Given the description of an element on the screen output the (x, y) to click on. 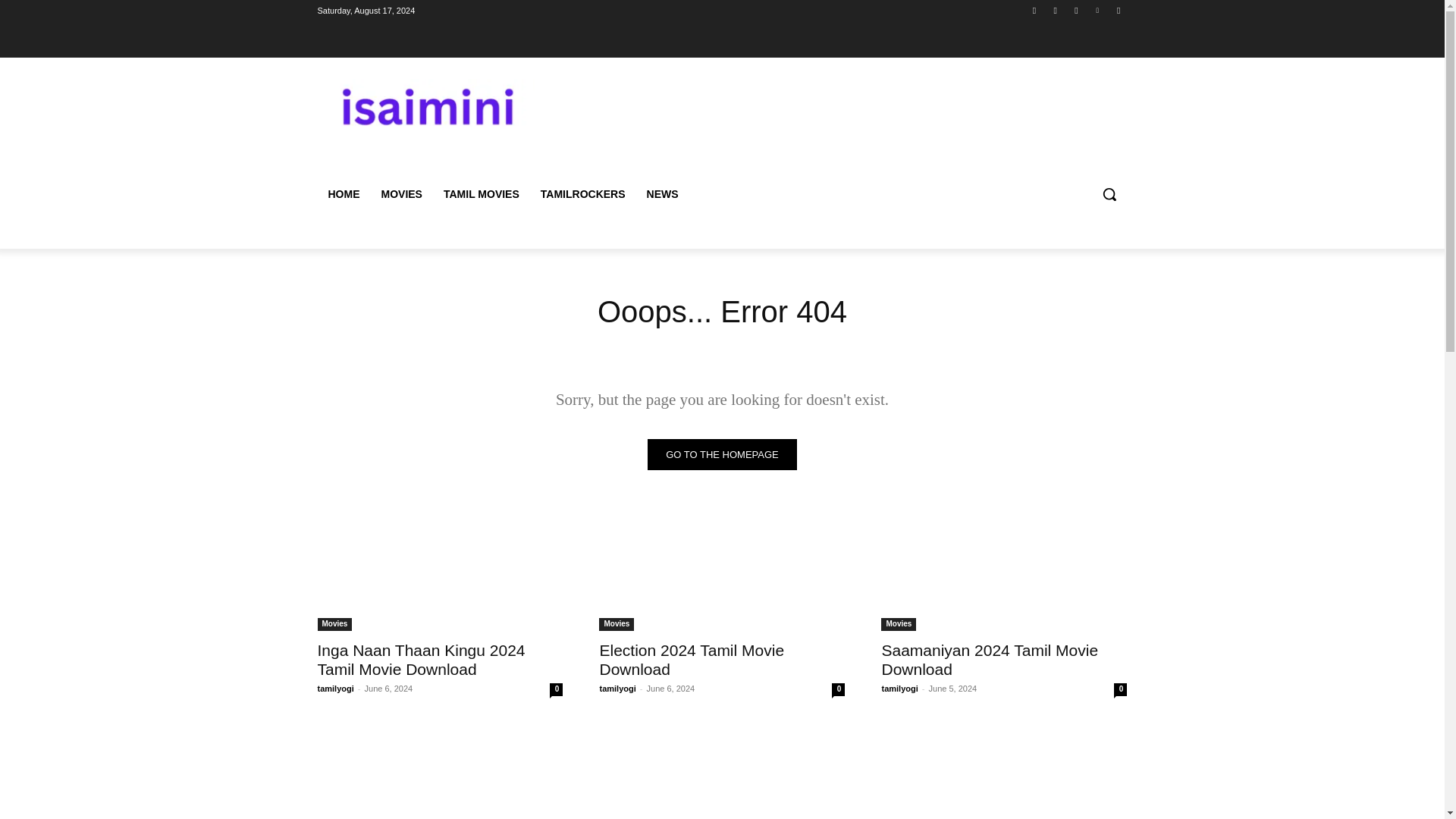
Vimeo (1097, 9)
Election 2024 Tamil Movie Download (691, 659)
GO TO THE HOMEPAGE (721, 454)
Election 2024 Tamil Movie Download (691, 659)
0 (837, 689)
Movies (897, 624)
NEWS (662, 194)
tamilyogi (898, 687)
MOVIES (400, 194)
Go to the homepage (721, 454)
